Given the description of an element on the screen output the (x, y) to click on. 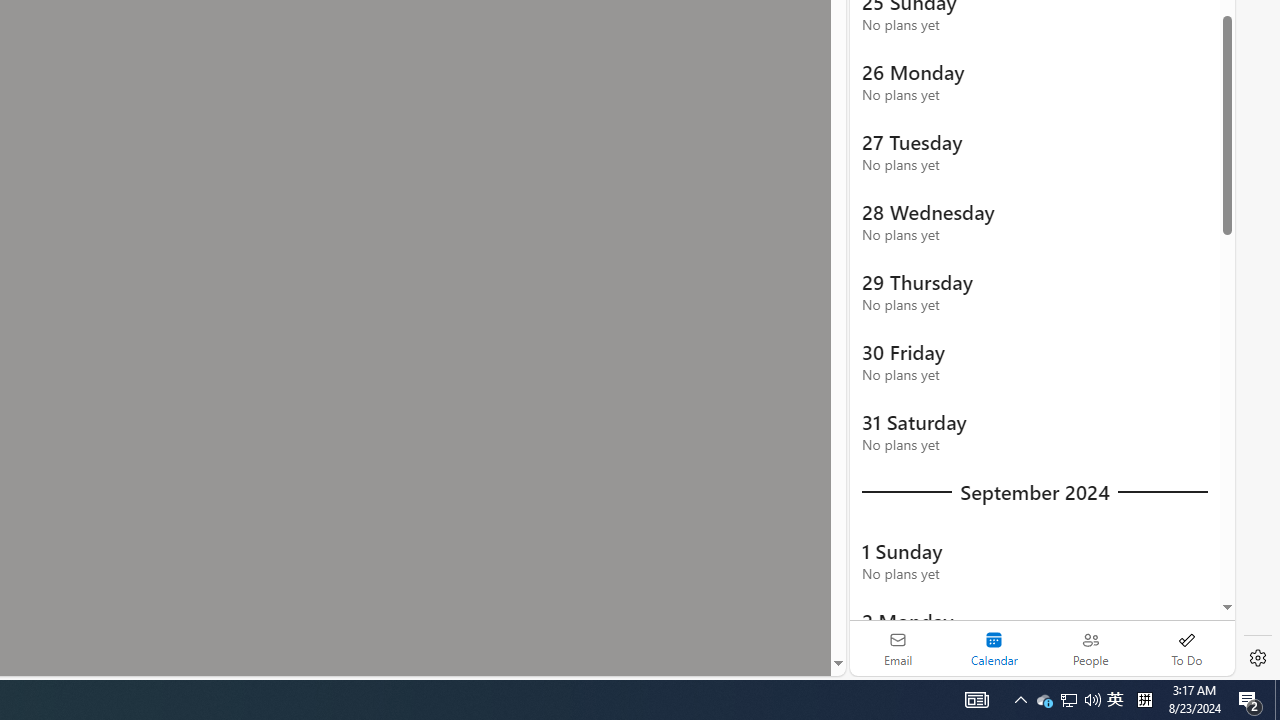
Email (898, 648)
Selected calendar module. Date today is 22 (994, 648)
People (1090, 648)
To Do (1186, 648)
